Given the description of an element on the screen output the (x, y) to click on. 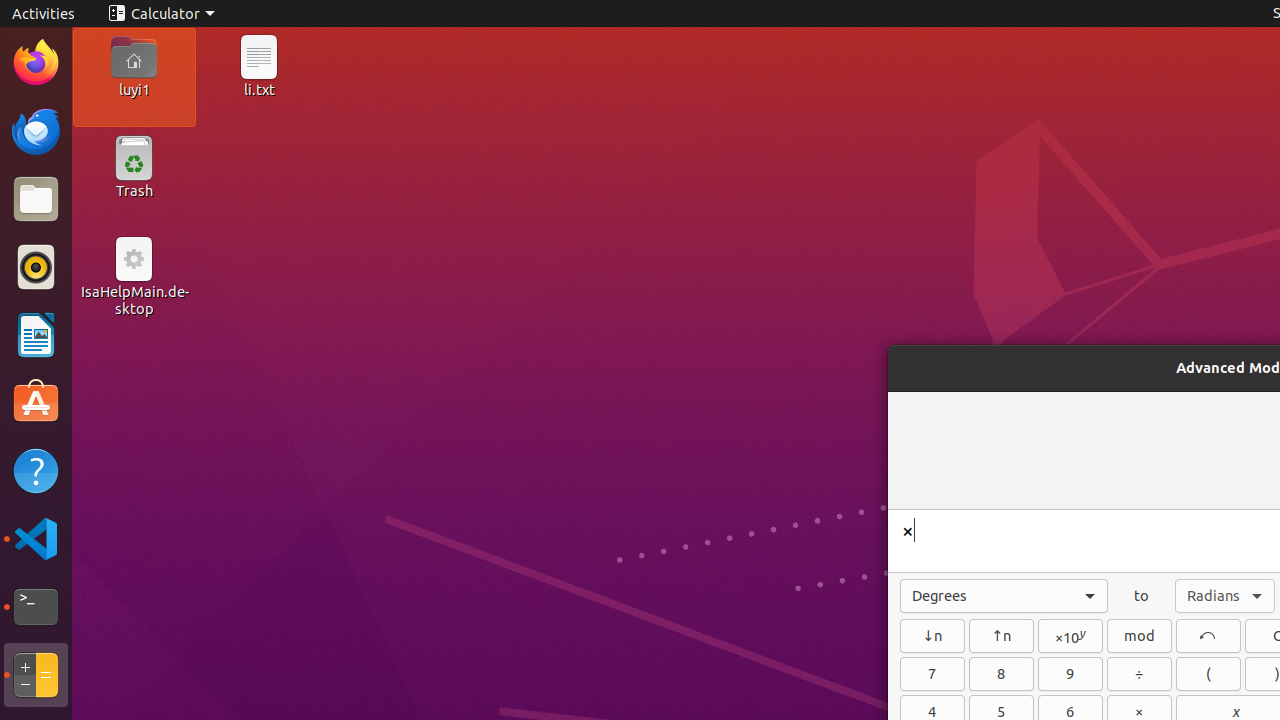
Trash Element type: label (133, 191)
Activities Element type: label (43, 13)
9 Element type: push-button (1070, 674)
Calculator Element type: push-button (36, 675)
